Given the description of an element on the screen output the (x, y) to click on. 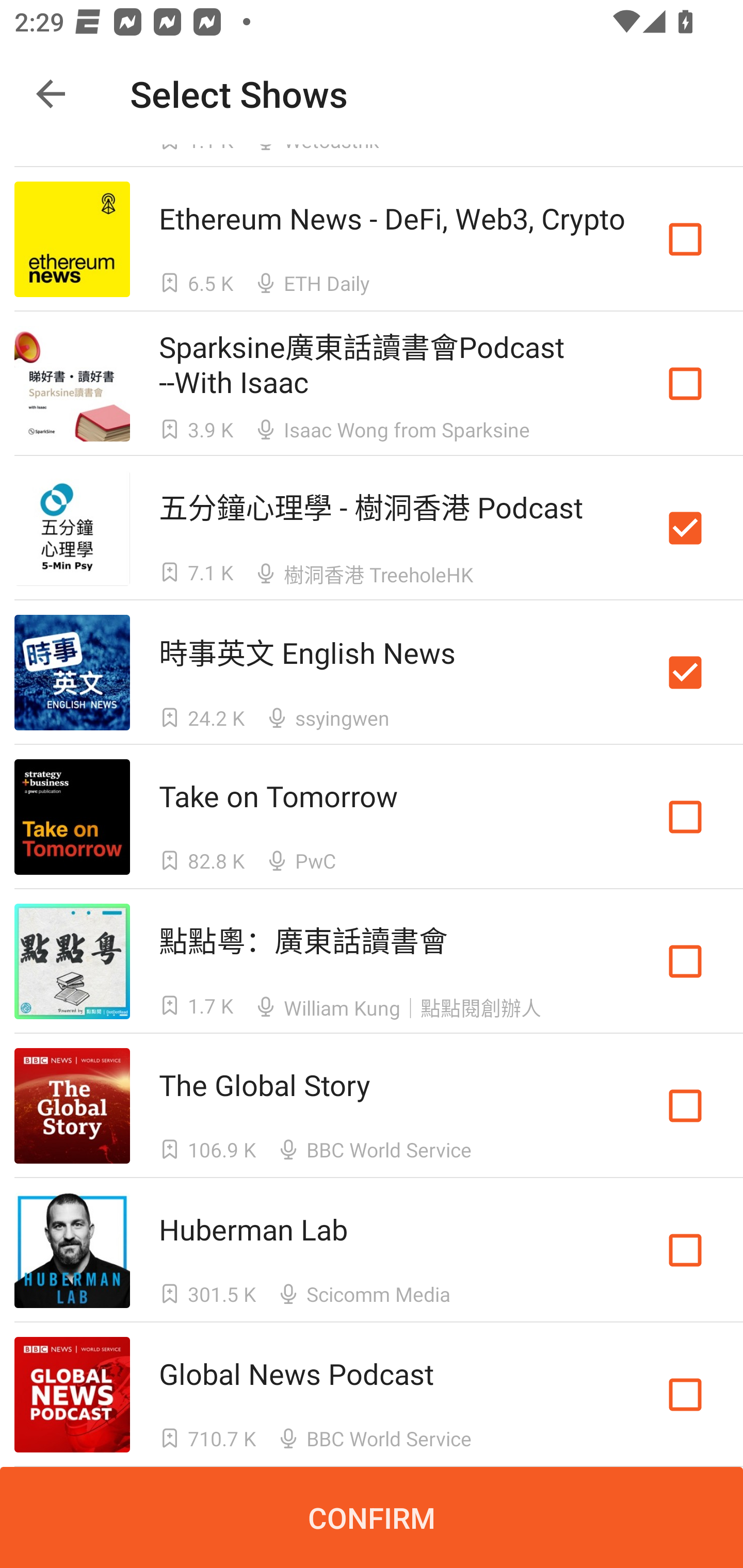
Navigate up (50, 93)
Take on Tomorrow Take on Tomorrow  82.8 K  PwC (371, 816)
CONFIRM (371, 1517)
